Given the description of an element on the screen output the (x, y) to click on. 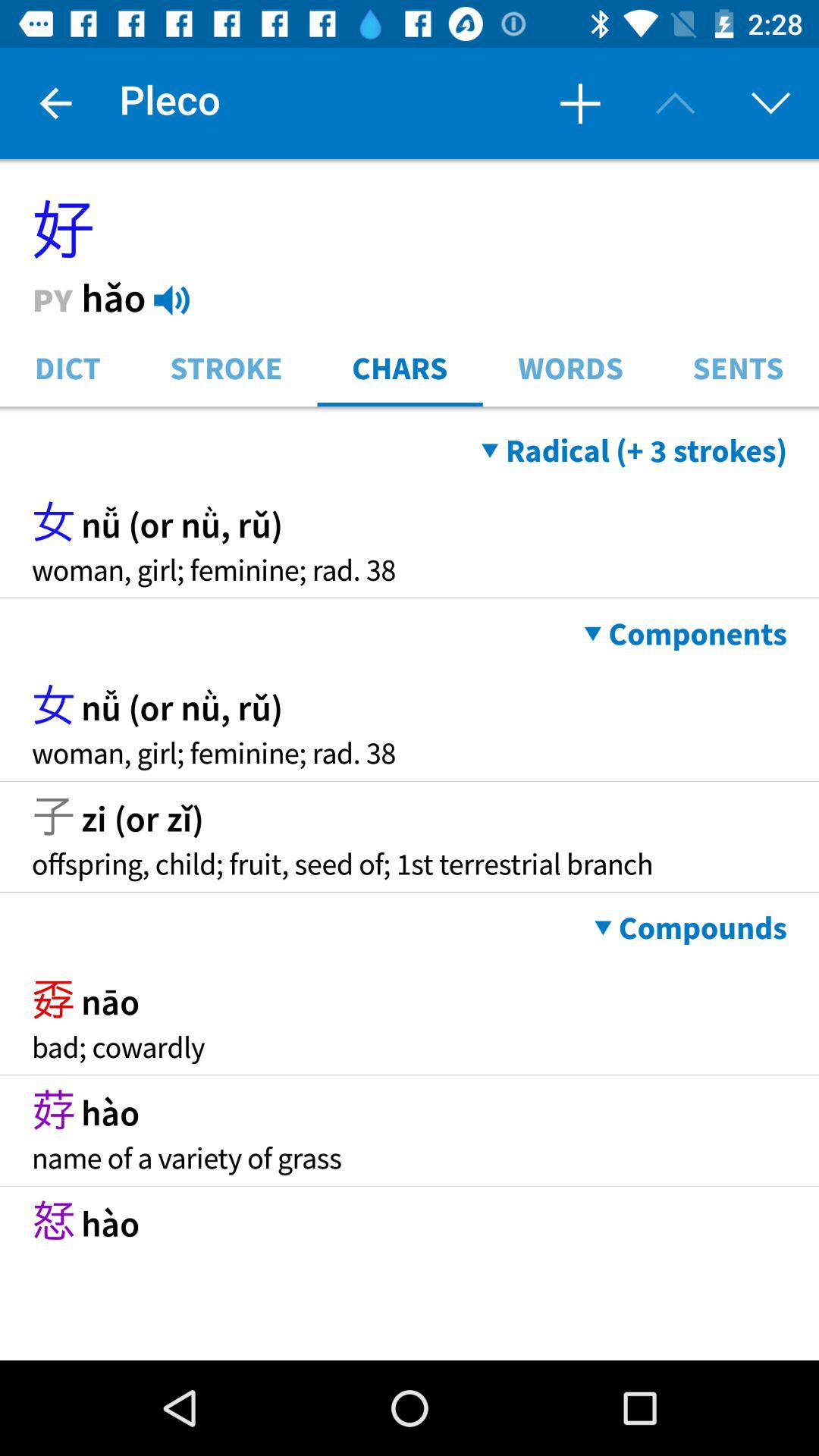
swipe until dict icon (67, 366)
